Given the description of an element on the screen output the (x, y) to click on. 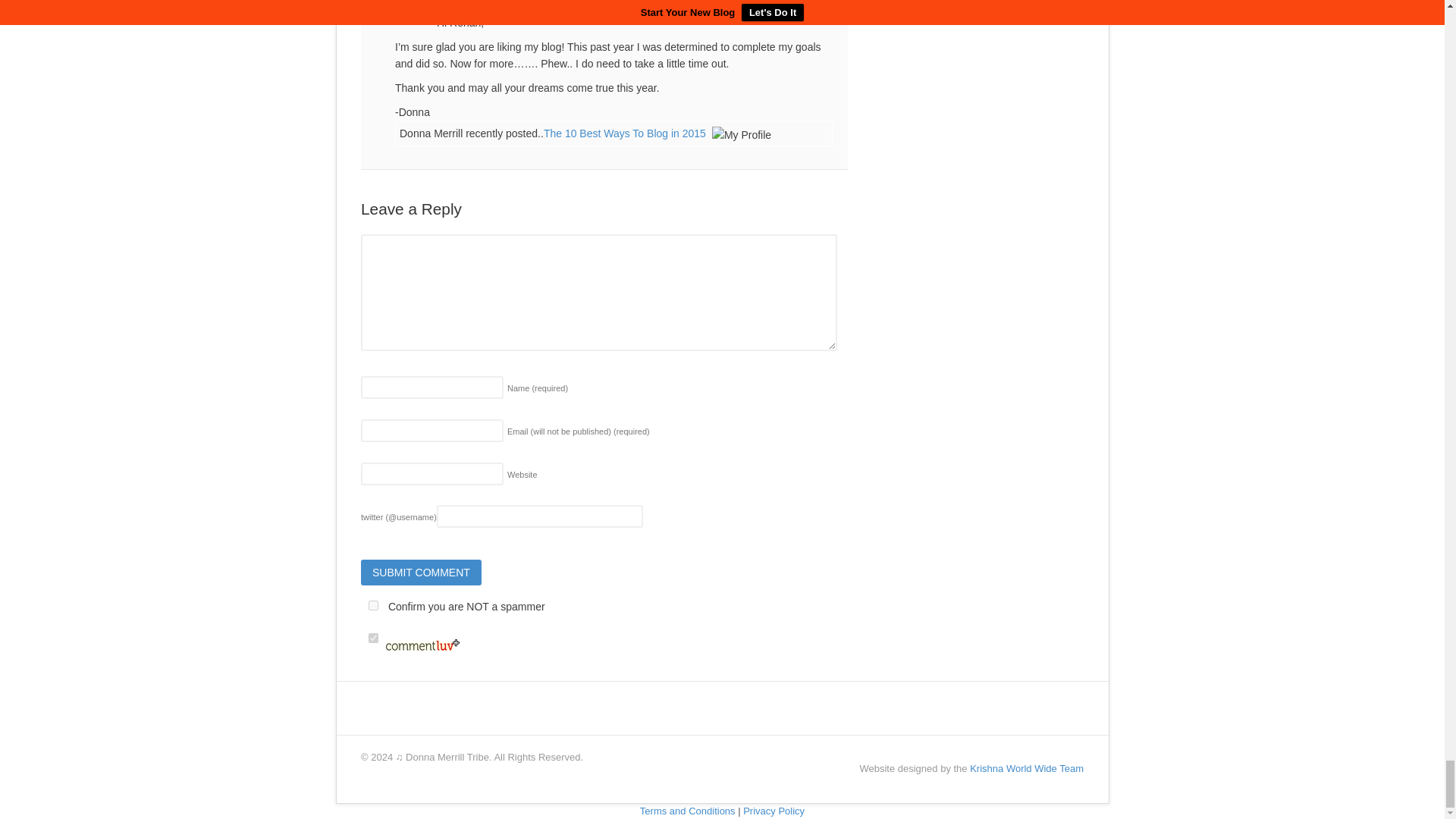
on (373, 605)
Submit Comment (421, 572)
on (373, 637)
